Given the description of an element on the screen output the (x, y) to click on. 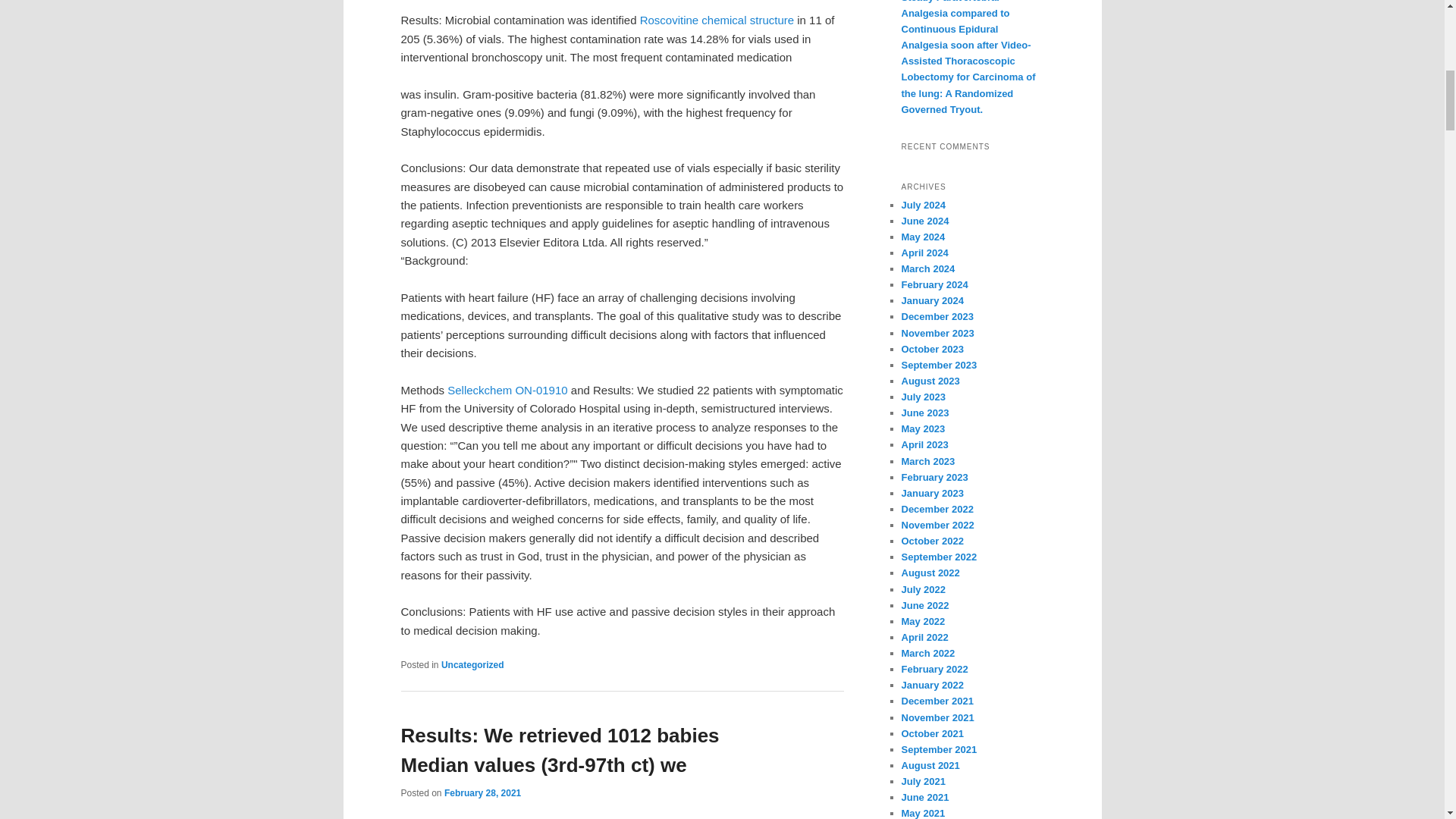
View all posts in Uncategorized (472, 665)
3:20 am (482, 792)
Selleckchem ON-01910 (506, 390)
February 28, 2021 (482, 792)
Uncategorized (472, 665)
Roscovitine chemical structure (716, 19)
